Given the description of an element on the screen output the (x, y) to click on. 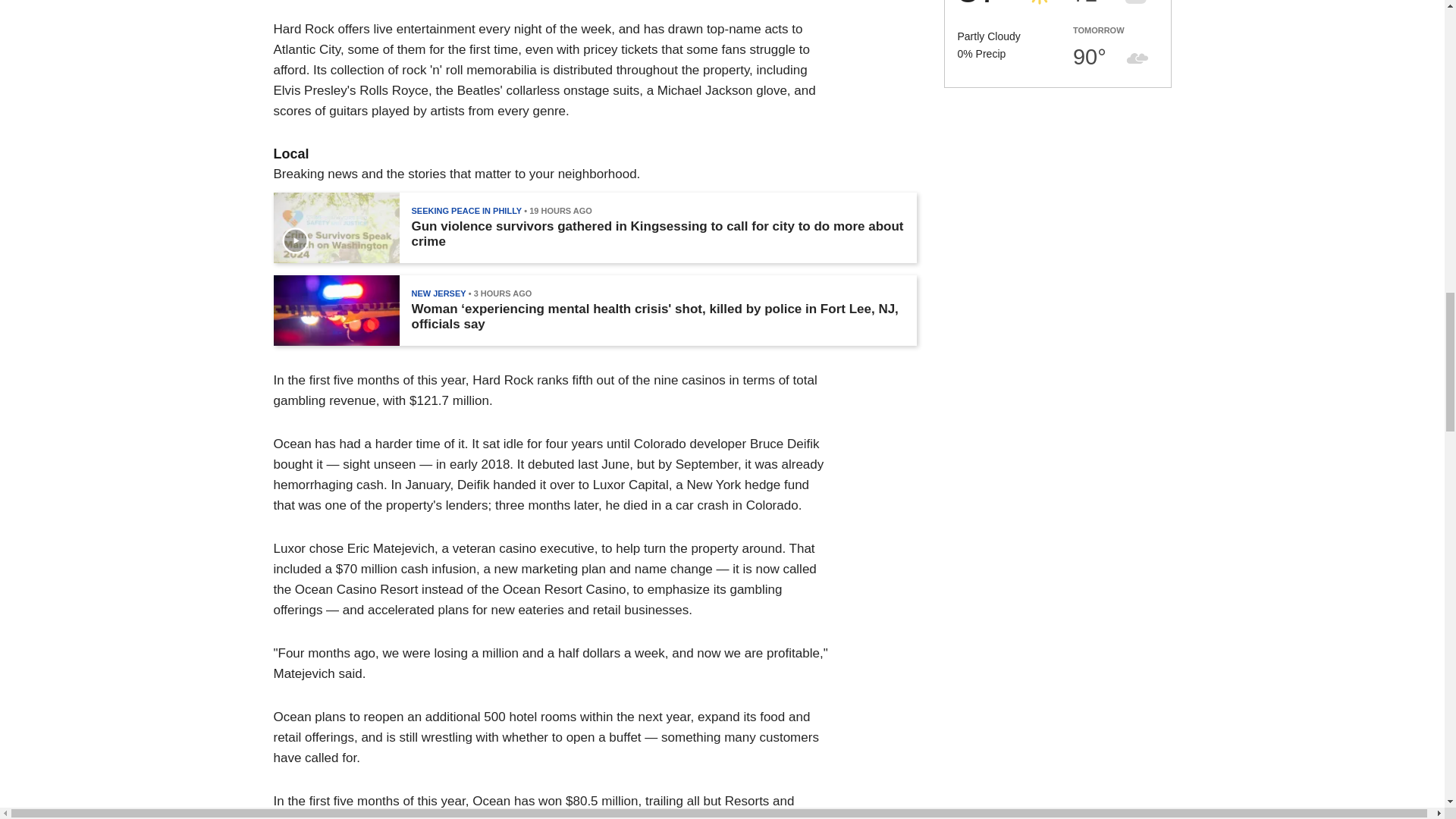
NEW JERSEY (437, 293)
SEEKING PEACE IN PHILLY (465, 210)
